Given the description of an element on the screen output the (x, y) to click on. 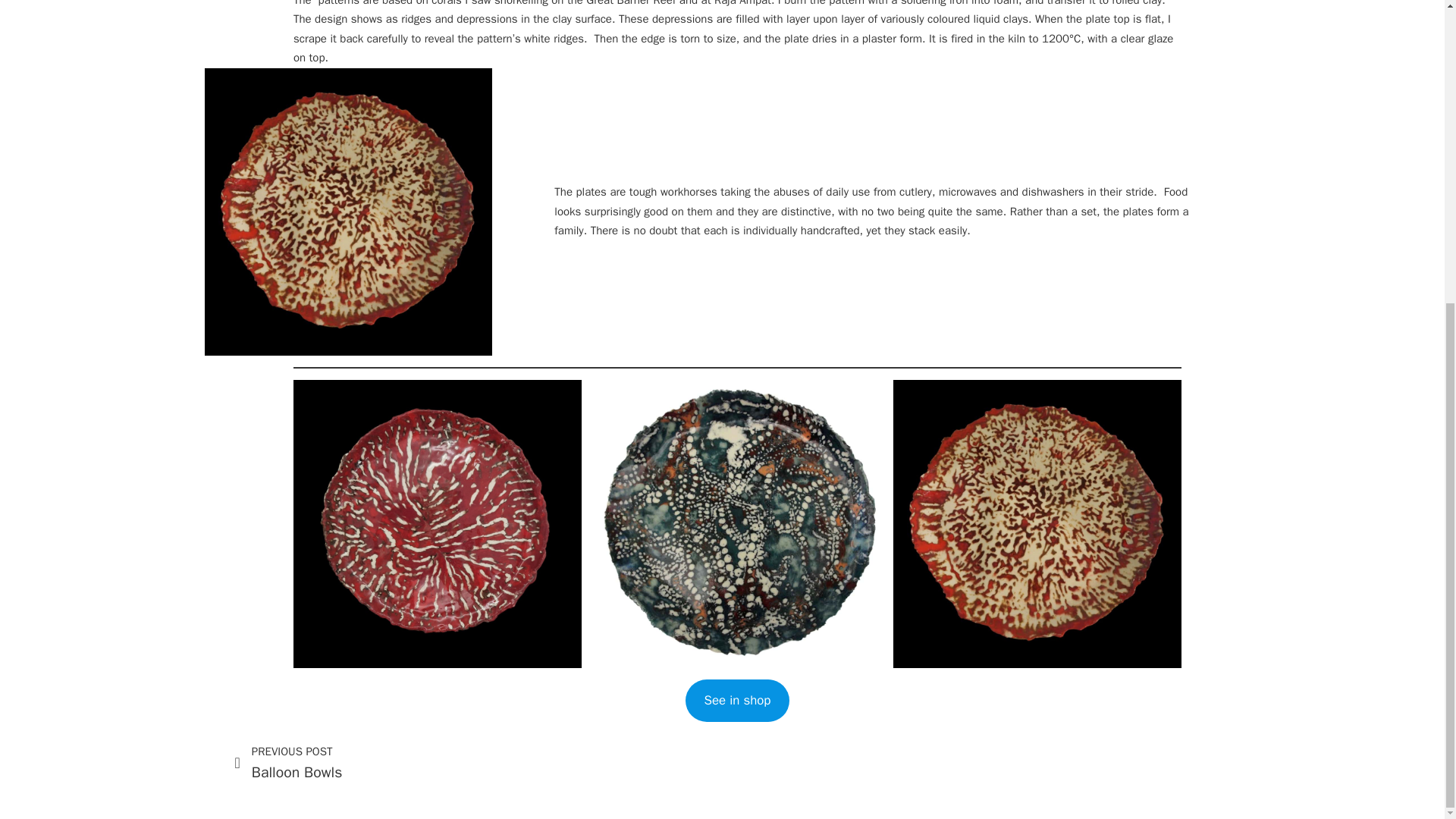
See in shop (259, 762)
